Given the description of an element on the screen output the (x, y) to click on. 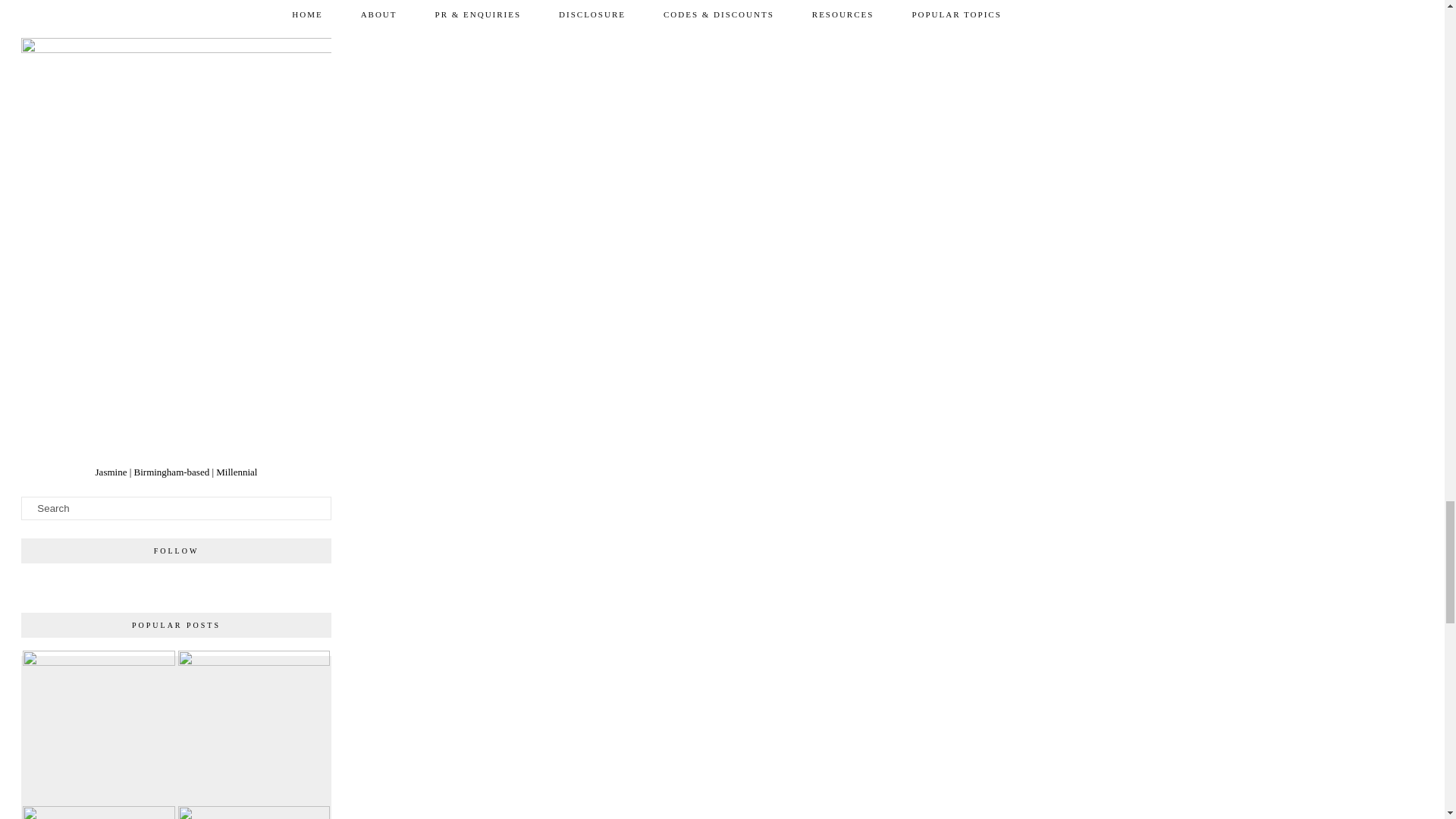
Search (175, 508)
